Given the description of an element on the screen output the (x, y) to click on. 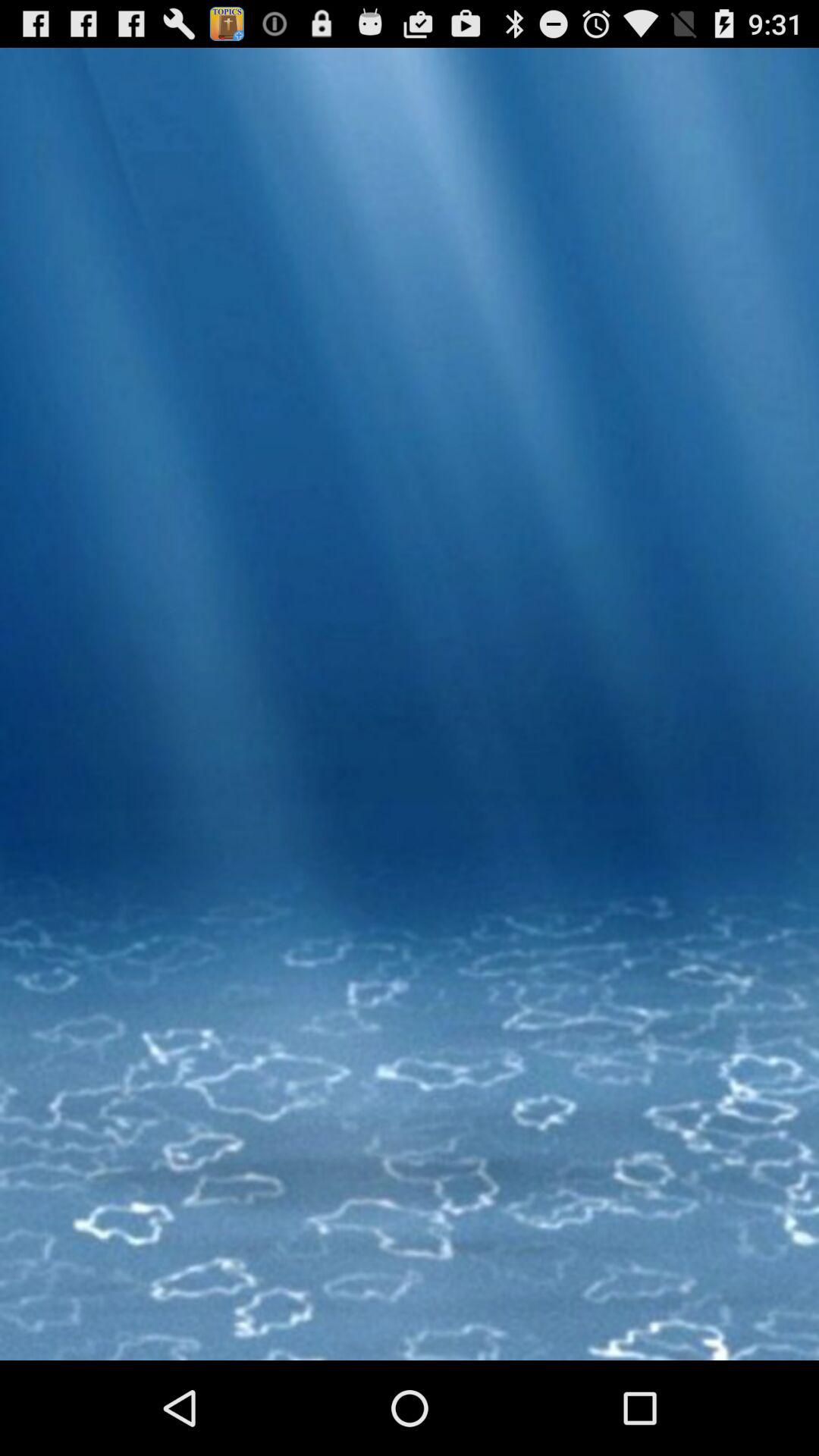
wallpaper mobile (409, 763)
